Given the description of an element on the screen output the (x, y) to click on. 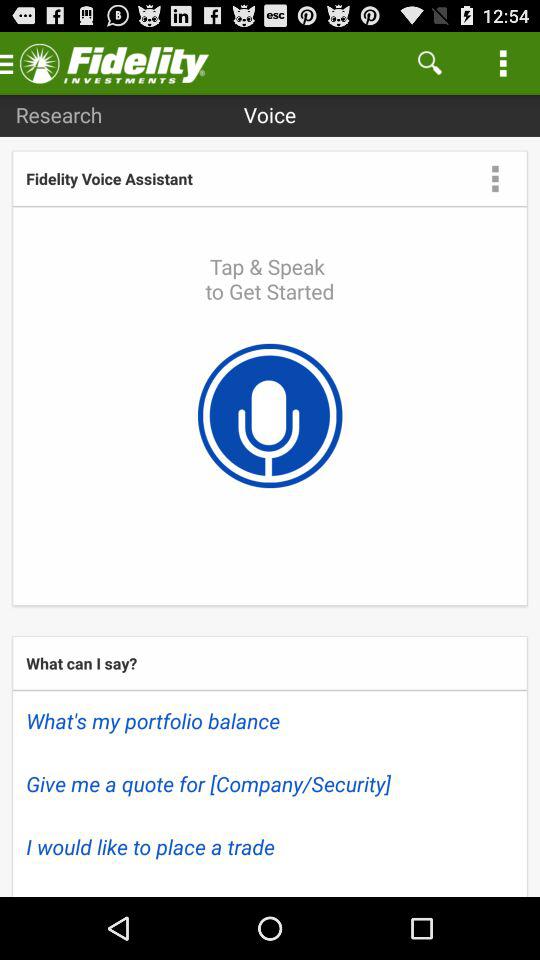
choose the icon to the right of voice app (429, 62)
